Given the description of an element on the screen output the (x, y) to click on. 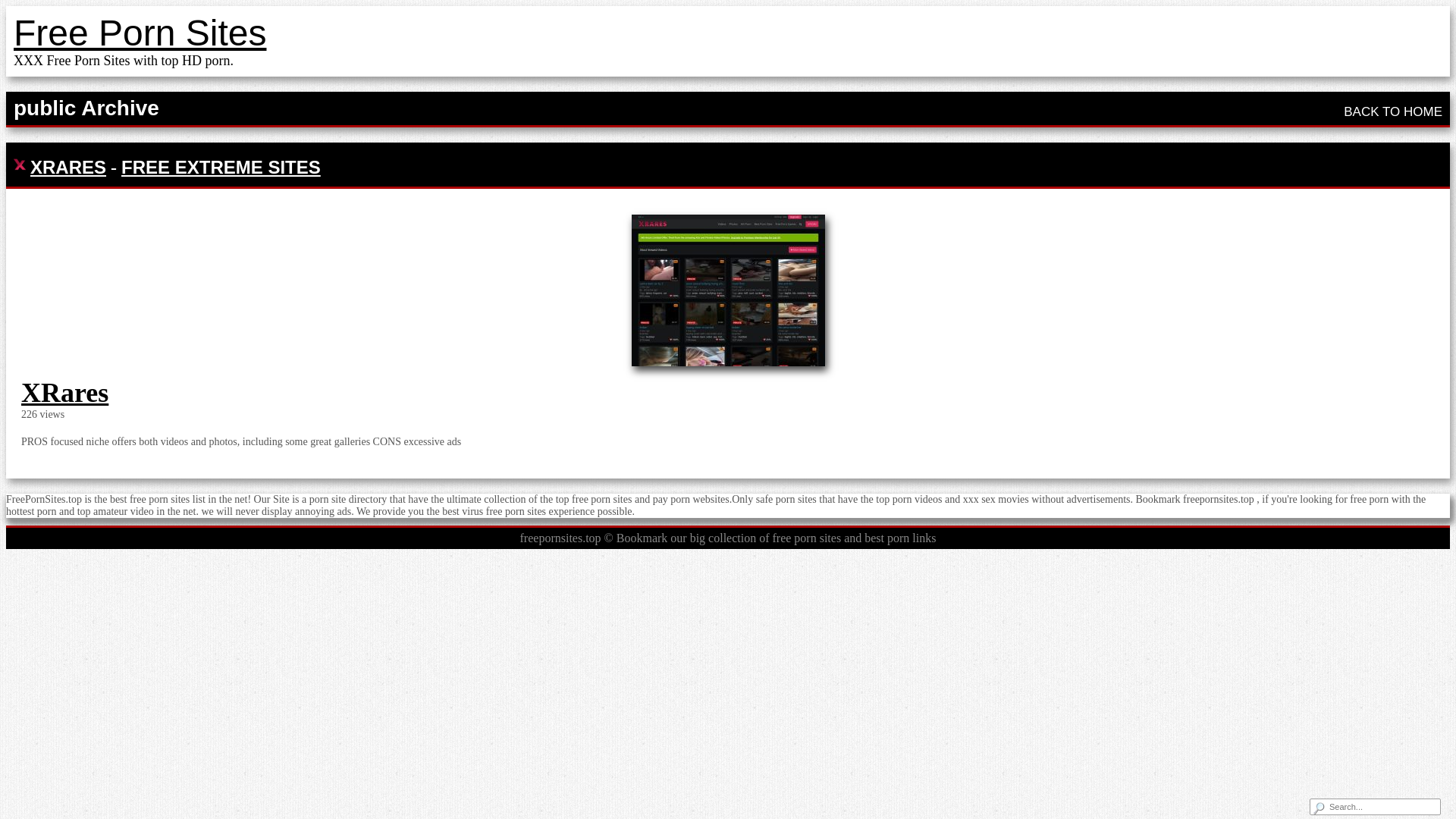
FREE EXTREME SITES (220, 167)
XRares (64, 392)
BACK TO HOME (1392, 111)
Free Porn Sites (139, 33)
XRares (64, 392)
XRares (727, 290)
XRARES (68, 167)
